Given the description of an element on the screen output the (x, y) to click on. 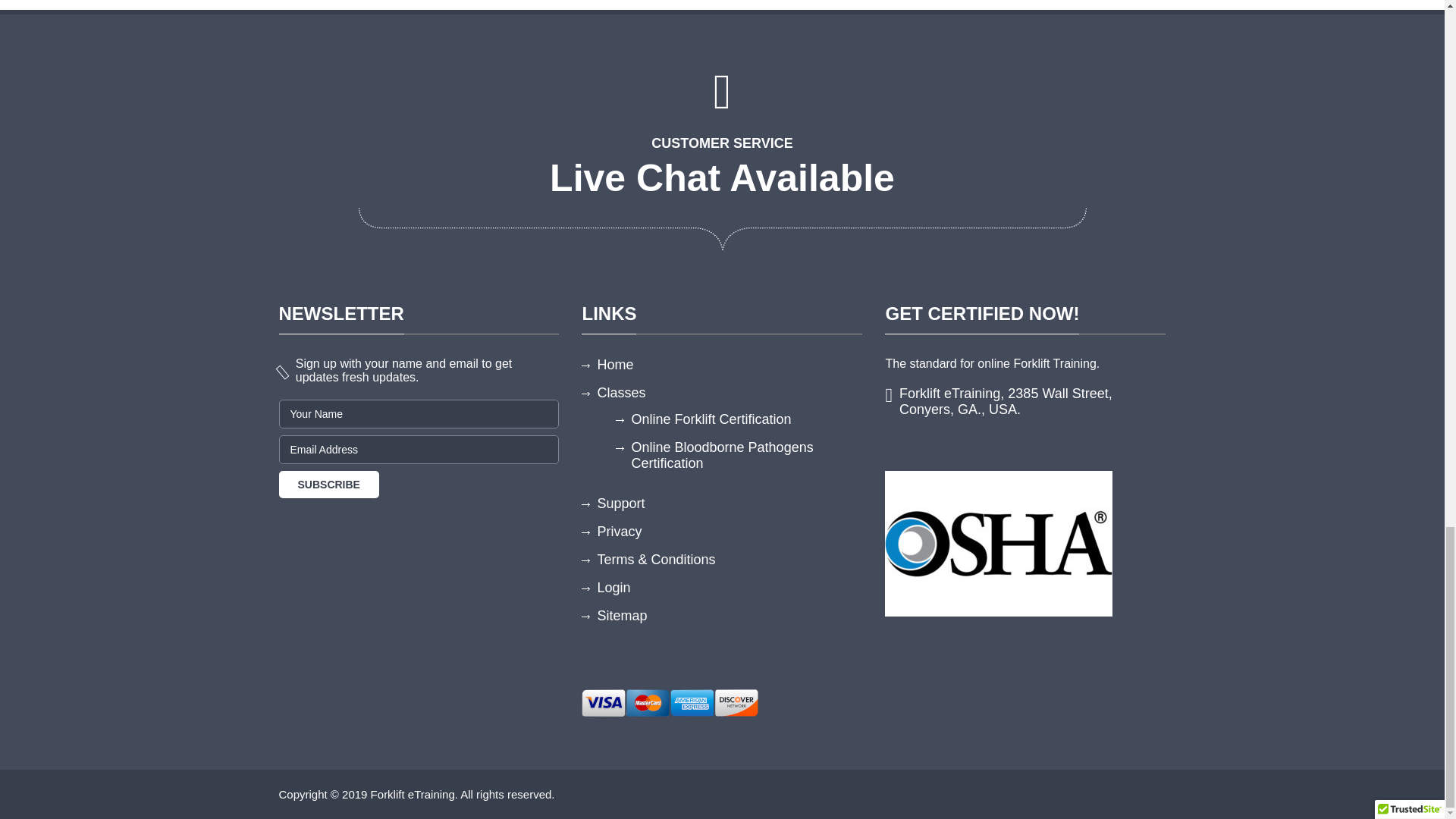
Online Forklift Certification (710, 418)
Home (614, 364)
Sitemap (621, 615)
Support (620, 503)
Classes (620, 392)
Subscribe (328, 483)
Online Bloodborne Pathogens Certification (721, 454)
Login (613, 587)
Subscribe (328, 483)
Privacy (619, 531)
